Given the description of an element on the screen output the (x, y) to click on. 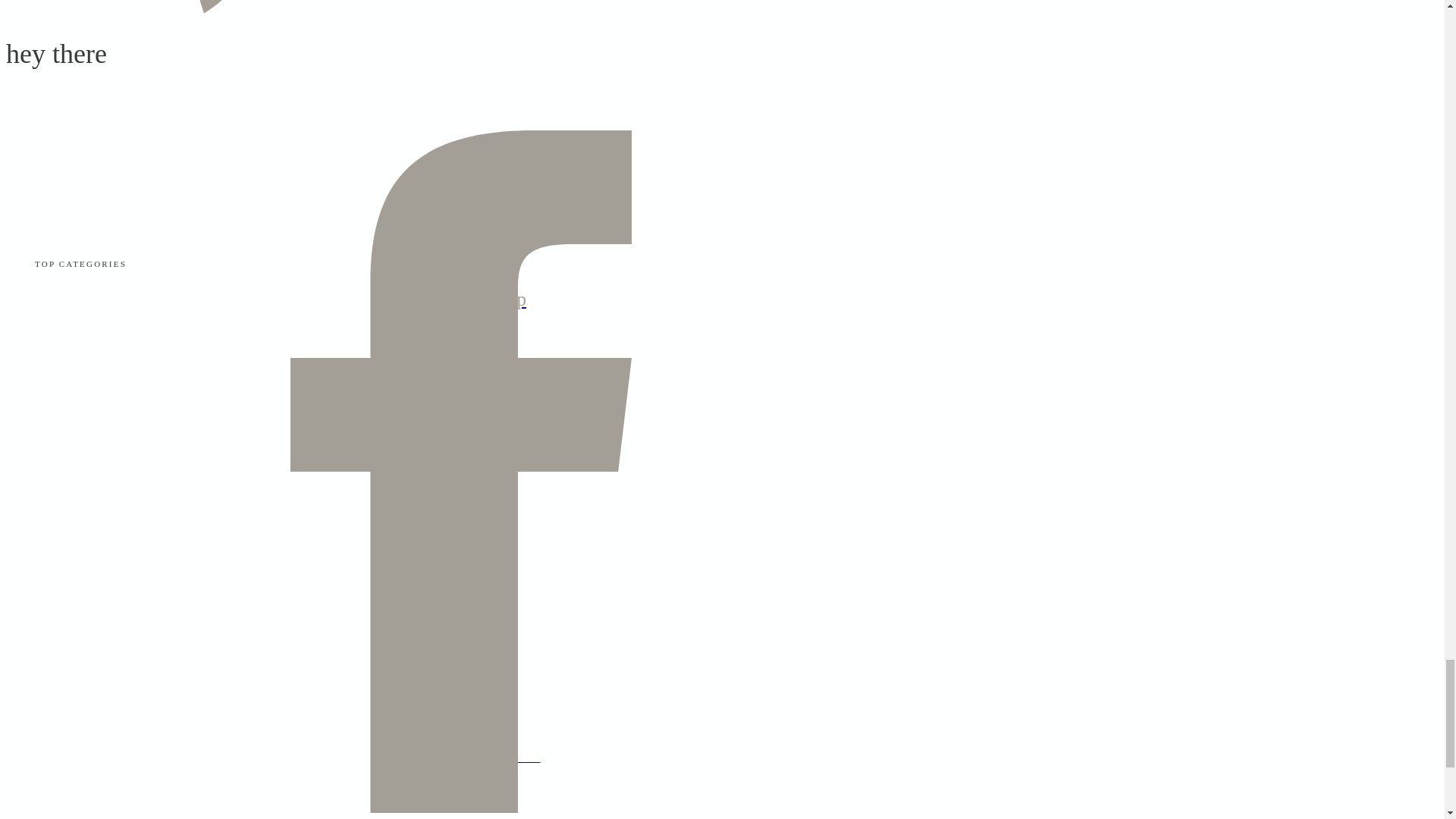
SEND IT TO ME (460, 159)
Abundance (460, 231)
Entrepreneurship (460, 299)
 Business (460, 192)
Confidence (460, 336)
